Given the description of an element on the screen output the (x, y) to click on. 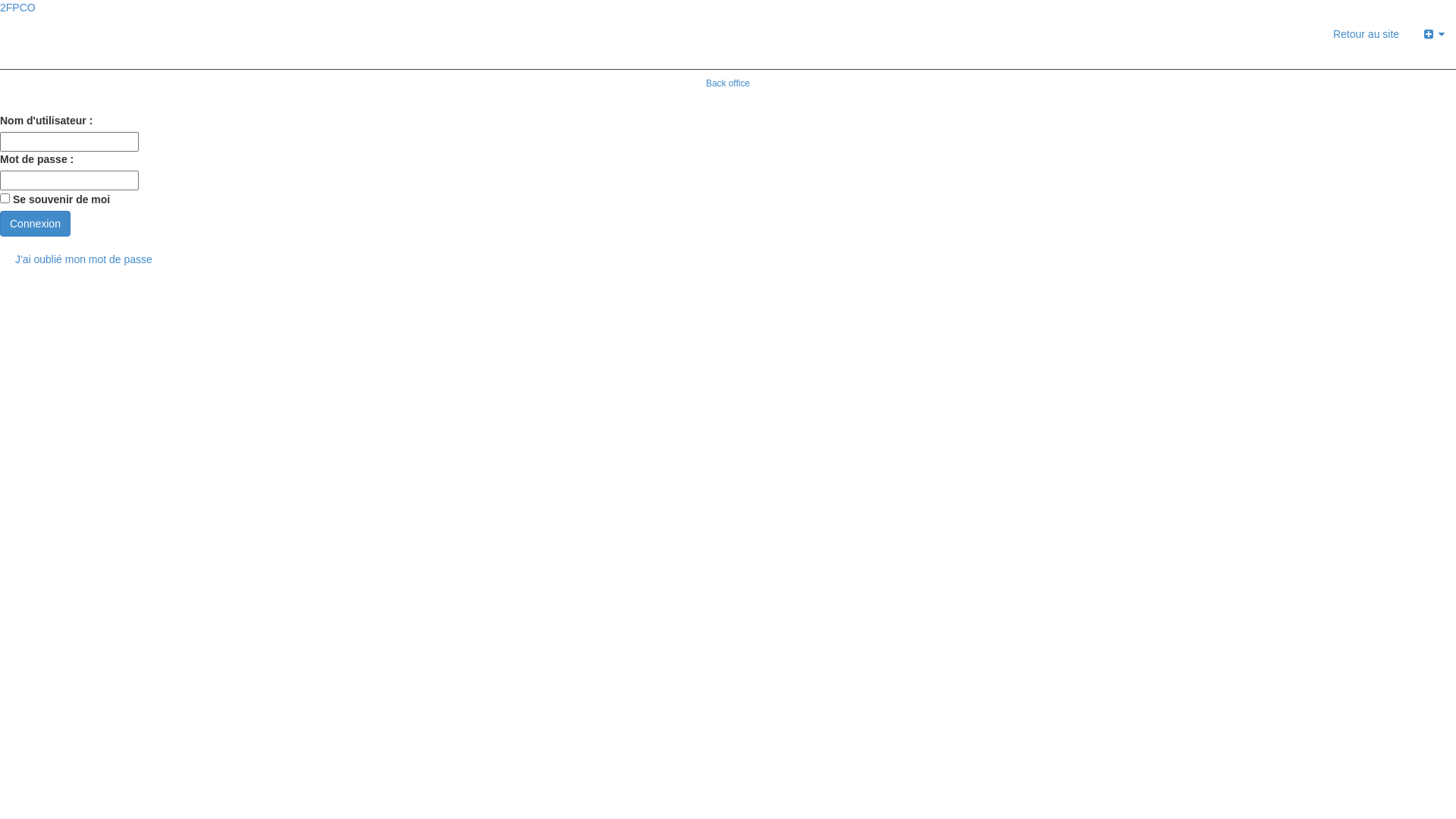
Connexion Element type: text (35, 223)
2FPCO Element type: text (17, 7)
Back office Element type: text (727, 83)
Retour au site Element type: text (1365, 34)
